Given the description of an element on the screen output the (x, y) to click on. 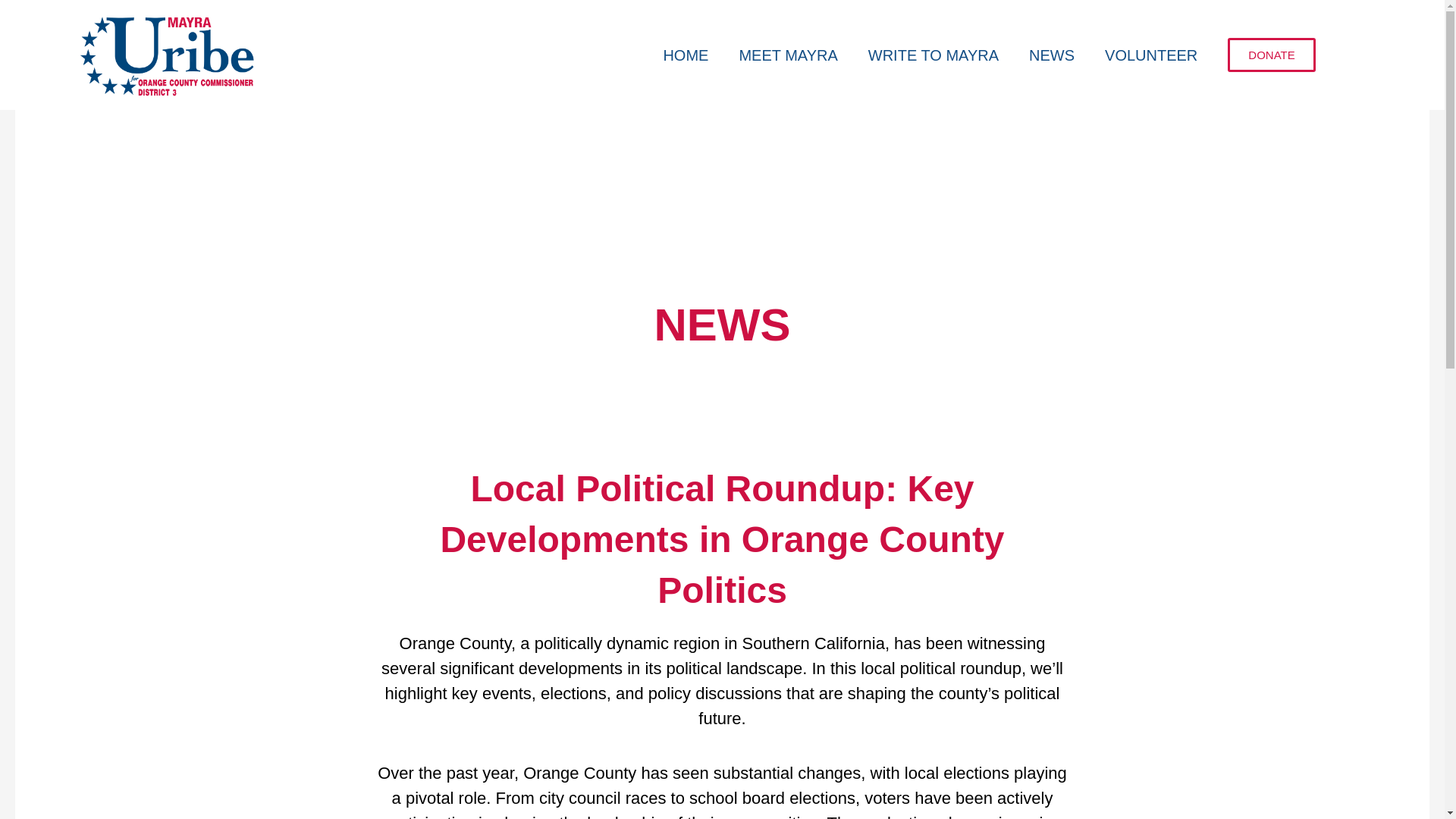
DONATE (1270, 54)
WRITE TO MAYRA (933, 54)
VOLUNTEER (1150, 54)
HOME (685, 54)
MEET MAYRA (787, 54)
NEWS (1051, 54)
